Given the description of an element on the screen output the (x, y) to click on. 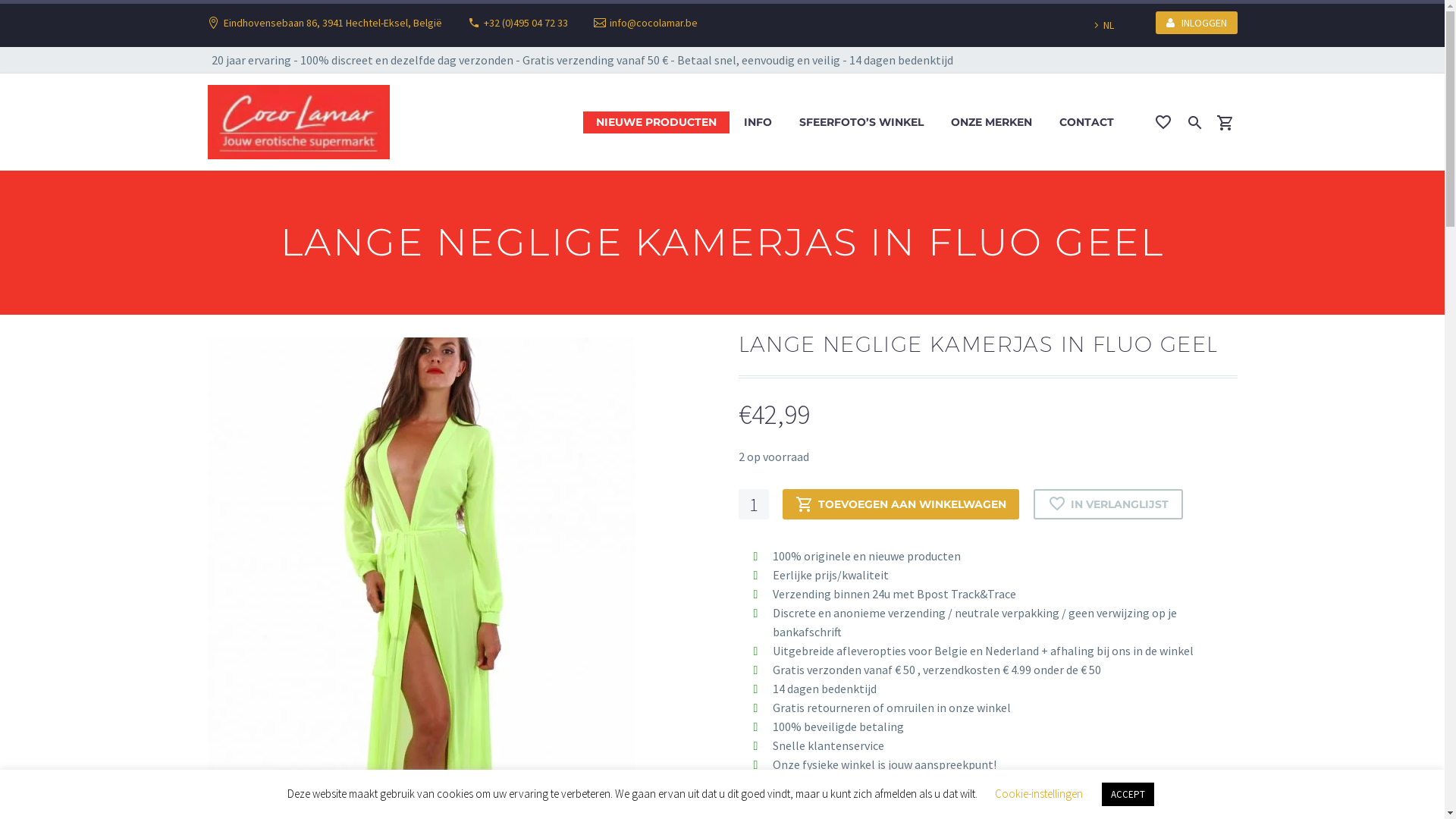
ONZE MERKEN Element type: text (990, 121)
NIEUWE PRODUCTEN Element type: text (655, 122)
NL Element type: text (1108, 24)
+32 (0)495 04 72 33 Element type: text (525, 22)
TOEVOEGEN AAN WINKELWAGEN Element type: text (900, 504)
IN VERLANGLIJST Element type: text (1107, 504)
CONTACT Element type: text (1086, 121)
info@cocolamar.be Element type: text (653, 22)
Cookie-instellingen Element type: text (1038, 793)
ACCEPT Element type: text (1127, 794)
INFO Element type: text (757, 121)
  INLOGGEN Element type: text (1196, 22)
